Given the description of an element on the screen output the (x, y) to click on. 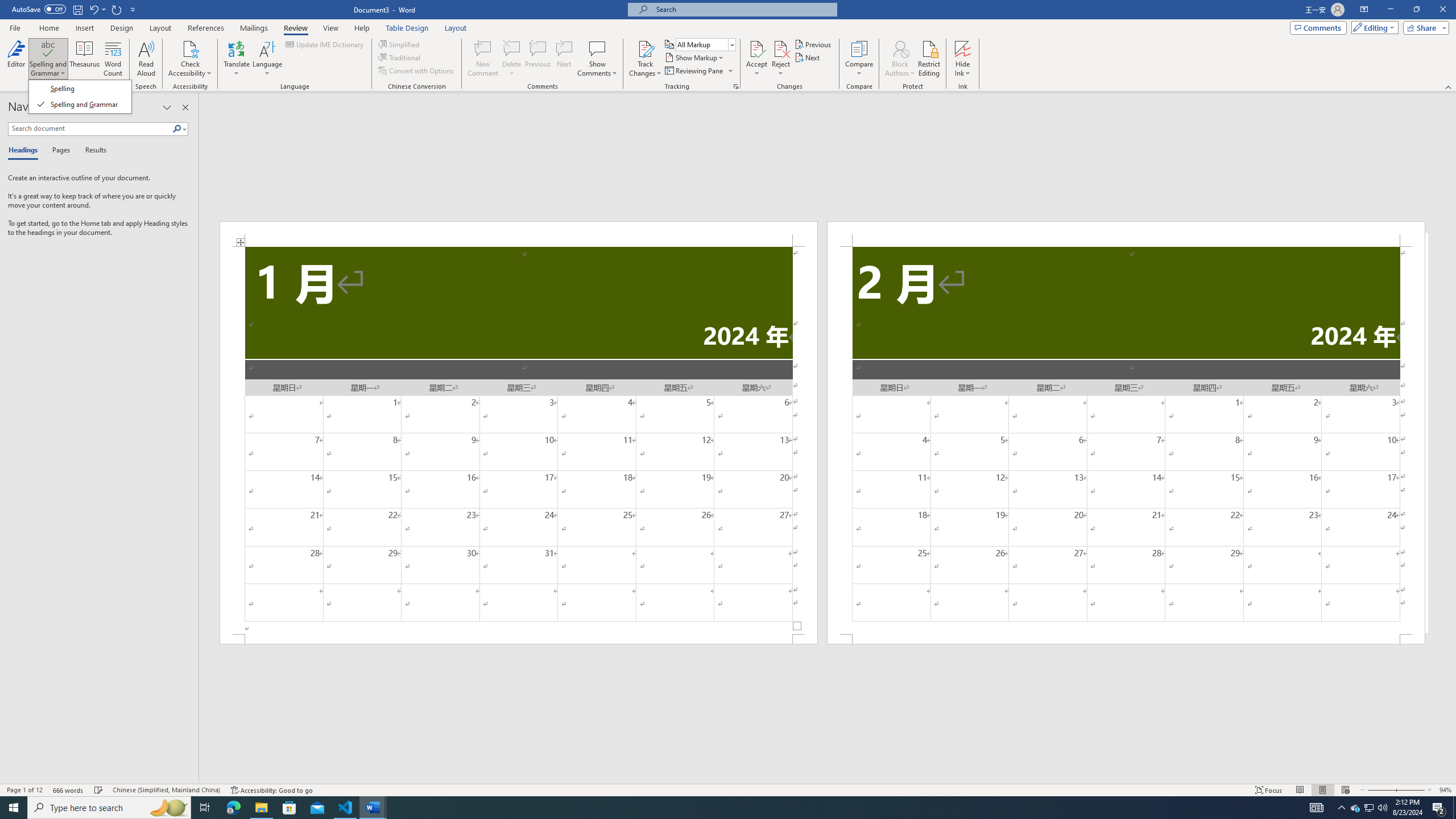
Language (267, 58)
Update IME Dictionary... (324, 44)
Page 2 content (1126, 439)
Next (808, 56)
Check Accessibility (189, 48)
Convert with Options... (417, 69)
